Given the description of an element on the screen output the (x, y) to click on. 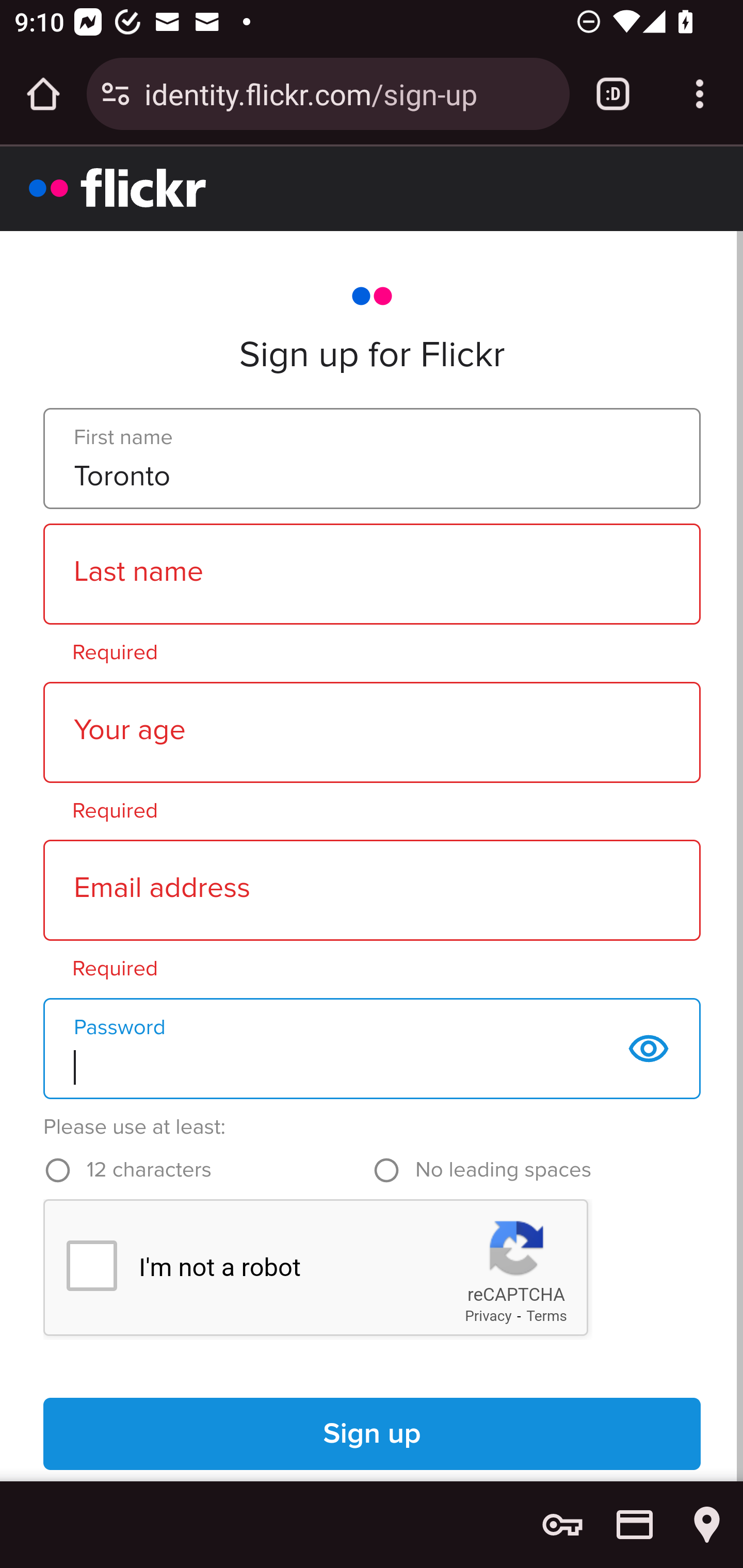
Open the home page (43, 93)
Connection is secure (115, 93)
Switch or close tabs (612, 93)
Customize and control Google Chrome (699, 93)
identity.flickr.com/sign-up (349, 92)
Flickr Logo (117, 186)
Toronto (371, 459)
I'm not a robot (91, 1266)
Privacy (488, 1315)
Terms (546, 1315)
Sign up (372, 1433)
Show saved passwords and password options (562, 1524)
Show saved payment methods (634, 1524)
Show saved addresses (706, 1524)
